Given the description of an element on the screen output the (x, y) to click on. 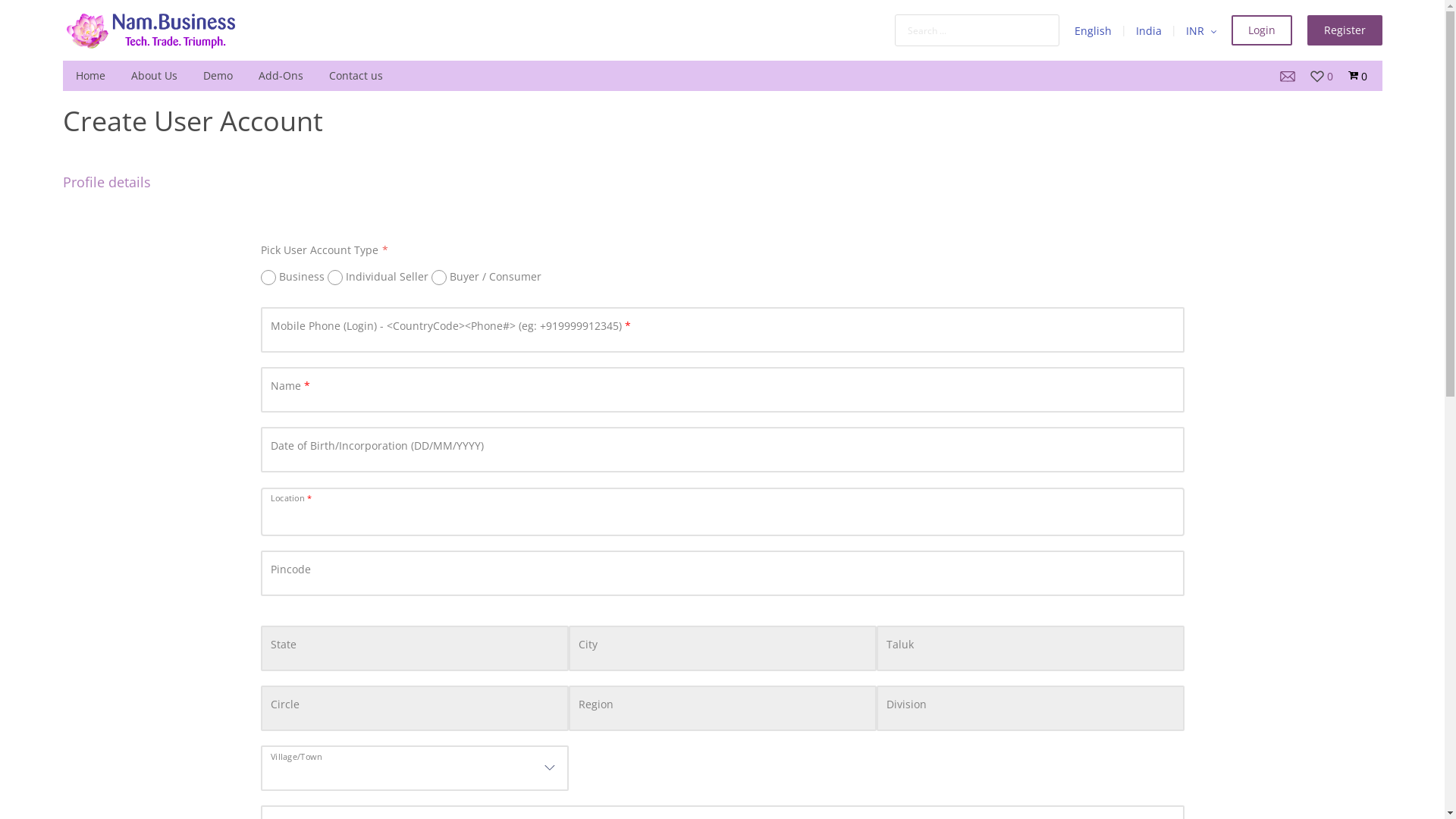
Add-Ons Element type: text (280, 75)
Home Element type: text (89, 75)
Home Element type: hover (148, 30)
Demo Element type: text (216, 75)
Register Element type: text (1344, 30)
Contact us Element type: text (355, 75)
Profile details Element type: text (106, 181)
English India INR Element type: text (1144, 29)
About Us Element type: text (154, 75)
0 Element type: text (1321, 74)
Login Element type: text (1261, 30)
